Given the description of an element on the screen output the (x, y) to click on. 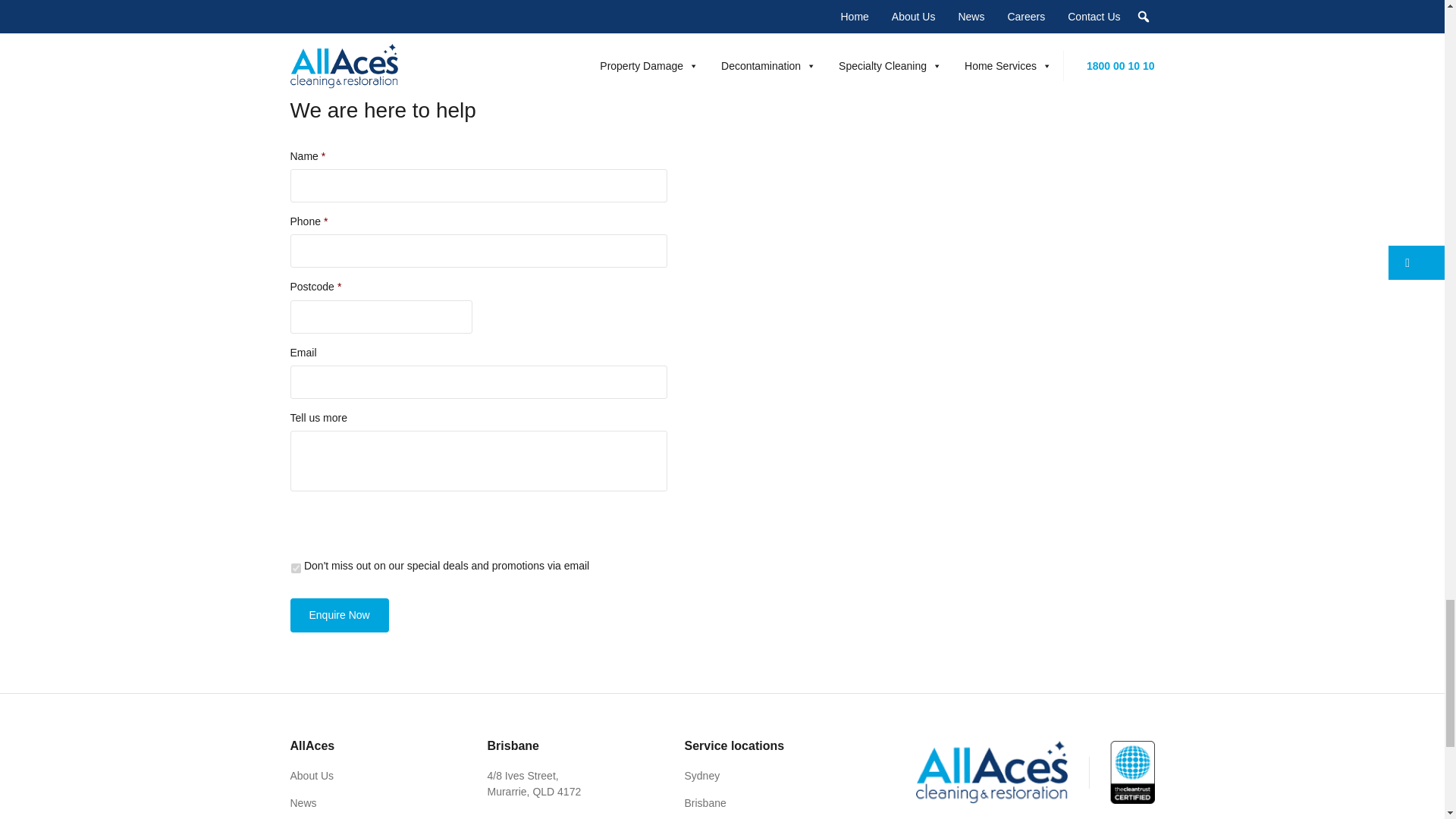
Enquire Now (338, 615)
Don't miss out on our special deals and promotions via email (296, 568)
